Given the description of an element on the screen output the (x, y) to click on. 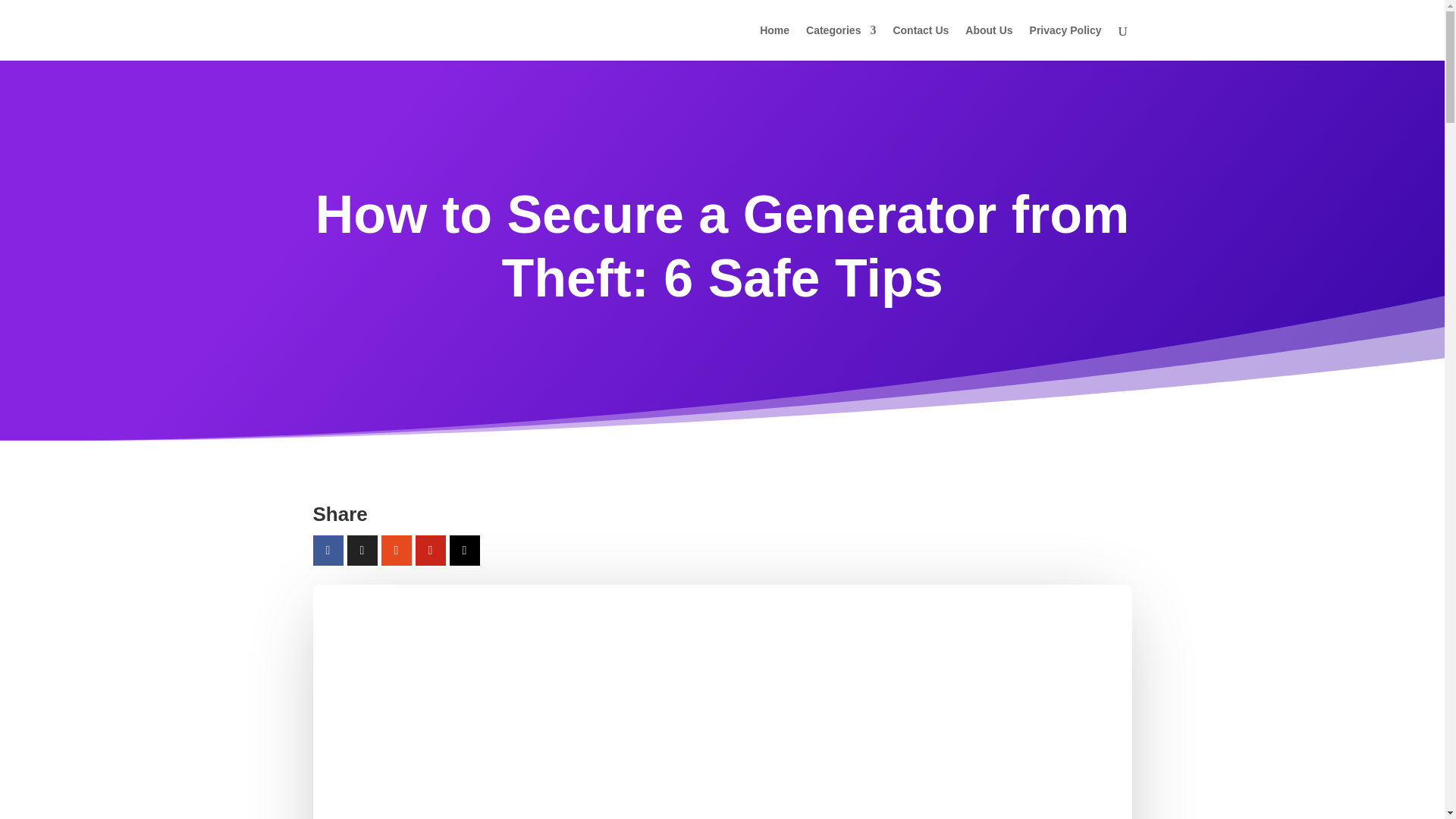
Contact Us (920, 42)
About Us (988, 42)
Categories (841, 42)
Privacy Policy (1065, 42)
